Given the description of an element on the screen output the (x, y) to click on. 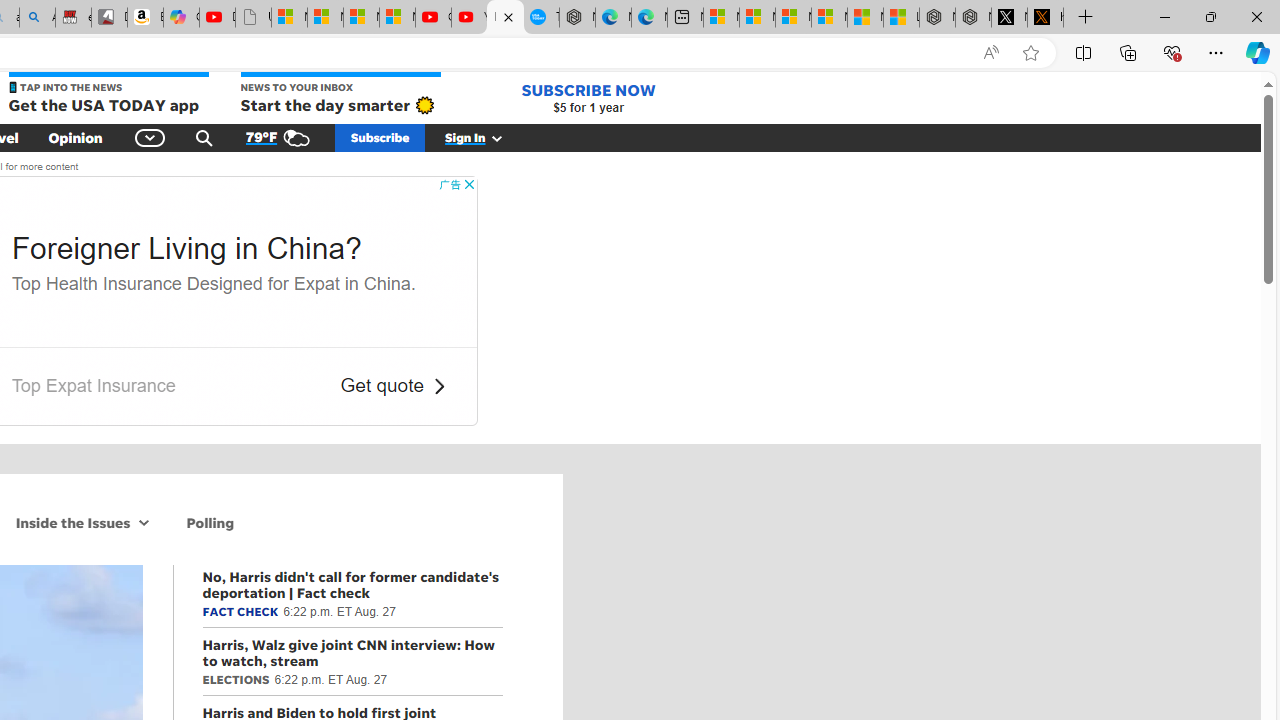
Class: gnt_n_us_a_svg (493, 137)
help.x.com | 524: A timeout occurred (1045, 17)
Subscribe (380, 137)
Nordace - Nordace has arrived Hong Kong (577, 17)
Amazon Echo Dot PNG - Search Images (37, 17)
Search (203, 137)
Class: gnt_sn_a_svg gnt_sn_a__db_svg (144, 522)
